Given the description of an element on the screen output the (x, y) to click on. 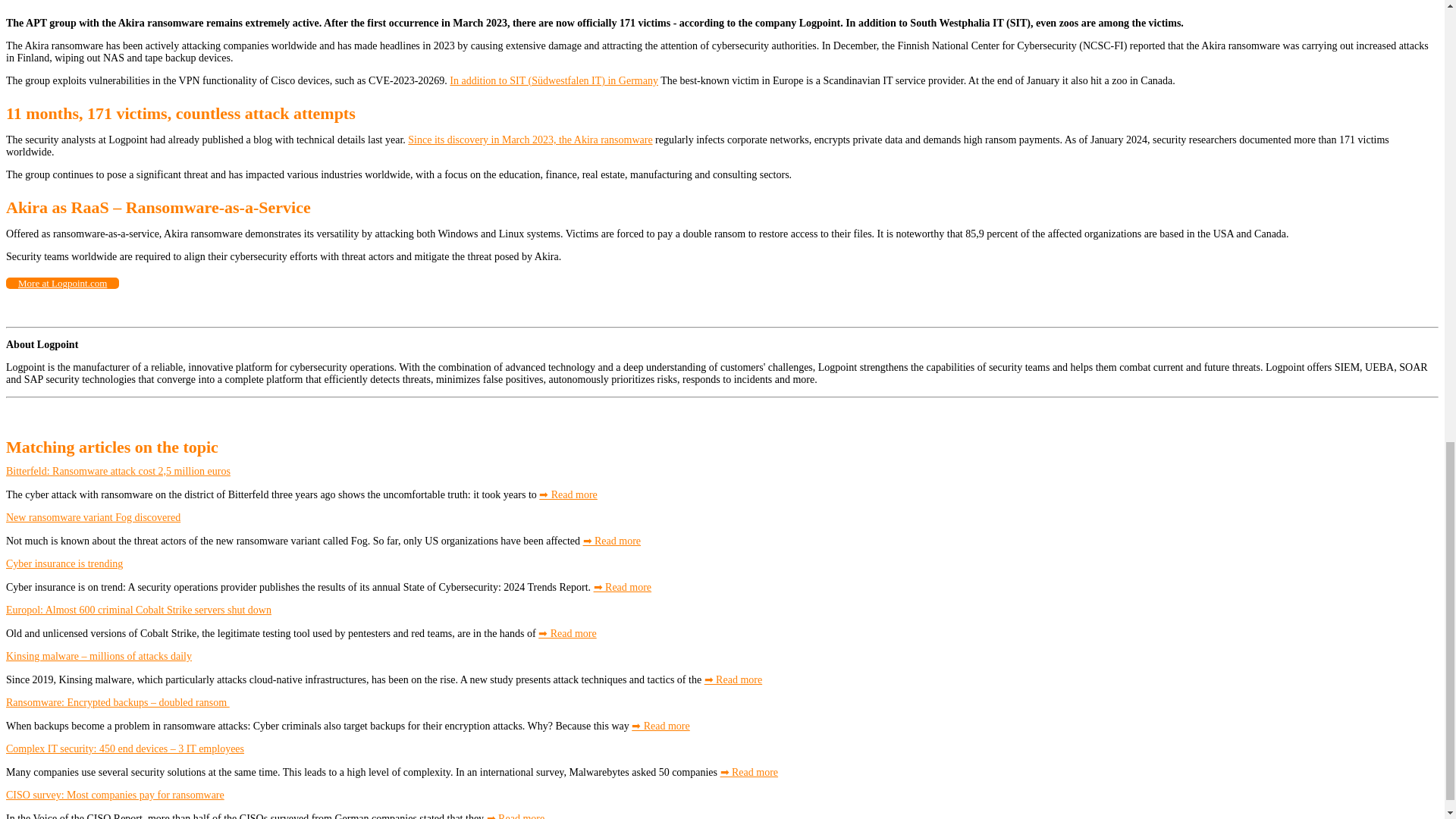
Europol: Almost 600 criminal Cobalt Strike servers shut down (137, 609)
Bitterfeld: Ransomware attack cost 2,5 million euros (117, 471)
New ransomware variant Fog discovered (92, 517)
